Given the description of an element on the screen output the (x, y) to click on. 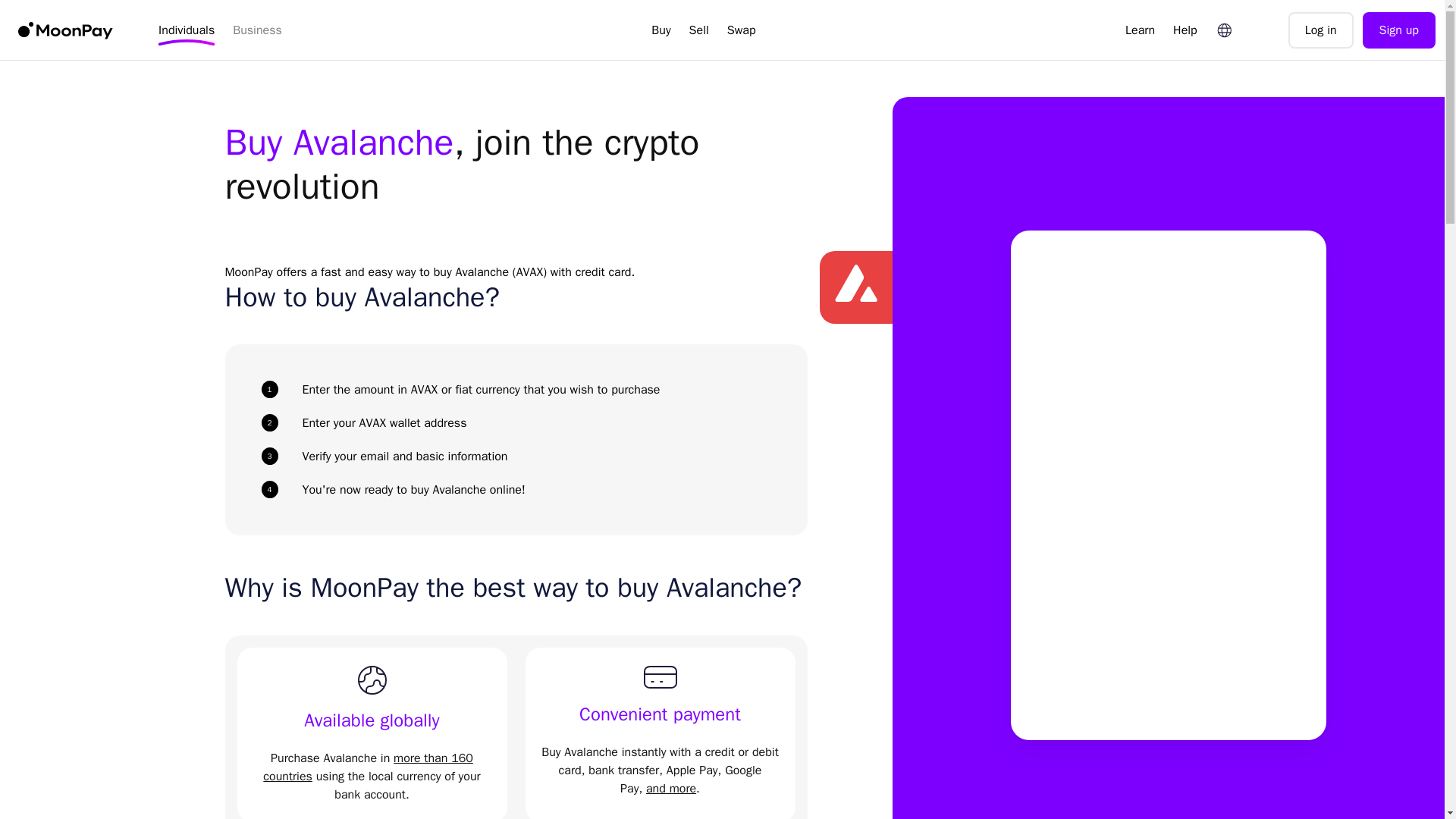
Business (257, 30)
Sell (698, 30)
more than 160 countries (368, 767)
Buy (660, 30)
Sign up (1398, 30)
Help (1185, 30)
Log in (1321, 30)
Individuals (186, 30)
and more (670, 788)
Swap (741, 30)
